Given the description of an element on the screen output the (x, y) to click on. 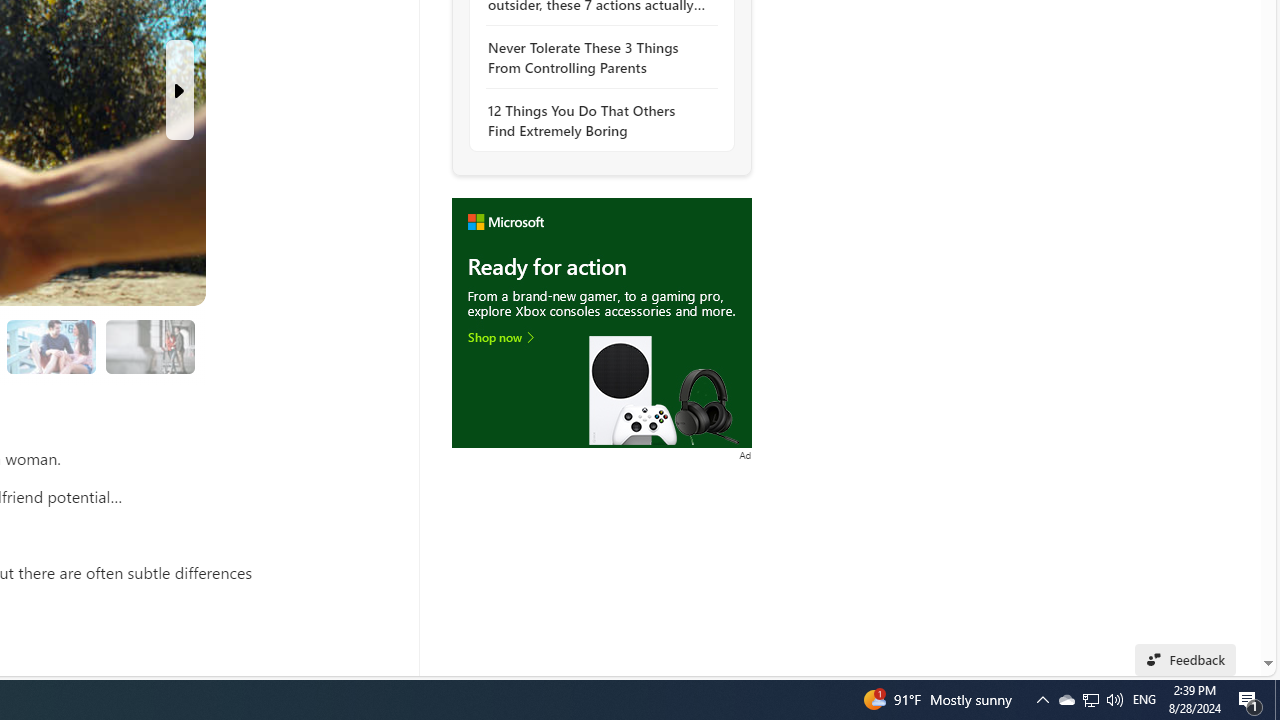
7. She can communicate her needs and wants. (150, 346)
Class: progress (149, 343)
To get missing image descriptions, open the context menu. (601, 322)
Never Tolerate These 3 Things From Controlling Parents (596, 57)
3. People flirt with you and want your company. (51, 346)
Next Slide (179, 89)
12 Things You Do That Others Find Extremely Boring (596, 120)
7. She can communicate her needs and wants. (149, 346)
To get missing image descriptions, open the context menu. (601, 324)
